Given the description of an element on the screen output the (x, y) to click on. 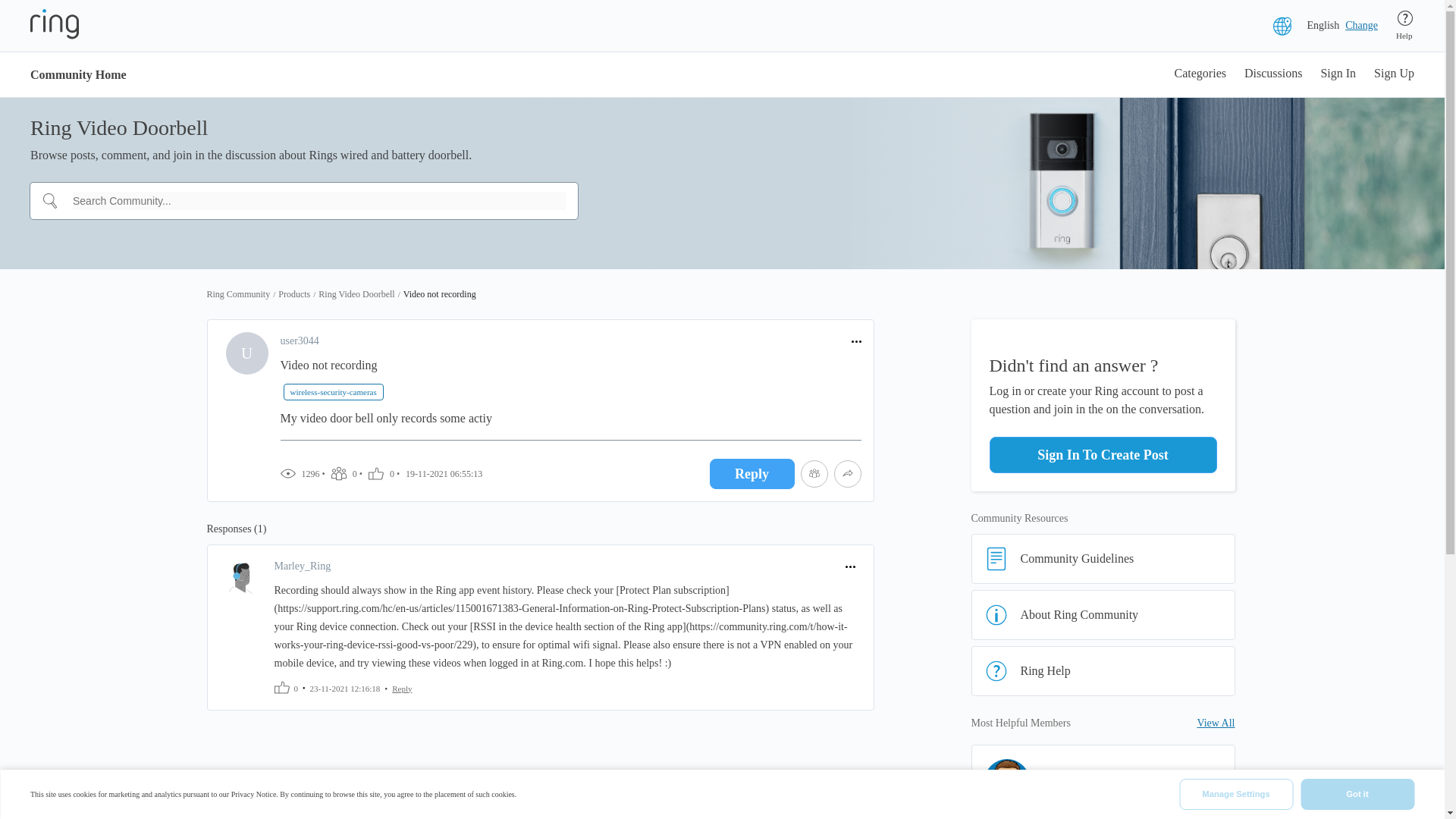
Community Home (78, 74)
Ring Help (1102, 671)
windracer (1168, 785)
About Ring Community (1102, 614)
Reply (401, 687)
Community Guidelines (1102, 558)
Reply (752, 473)
Sign Up (1393, 74)
Ring Video Doorbell (356, 294)
View All (1215, 723)
Change (1361, 25)
Discussions (1272, 74)
Ring Community (237, 294)
user3044 (299, 341)
Categories (1199, 74)
